Given the description of an element on the screen output the (x, y) to click on. 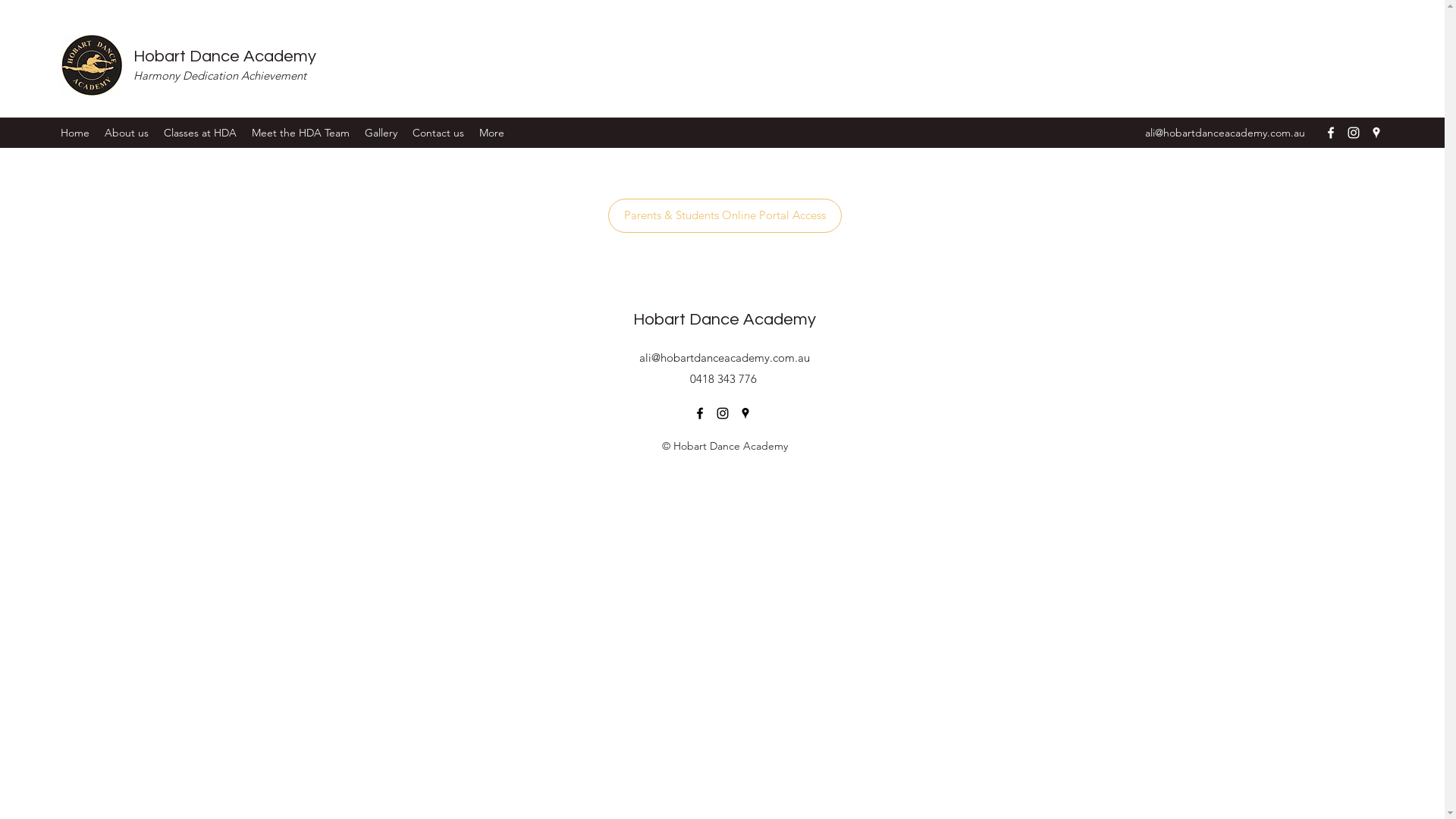
Home Element type: text (75, 132)
About us Element type: text (126, 132)
Parents & Students Online Portal Access Element type: text (724, 215)
ali@hobartdanceacademy.com.au Element type: text (1225, 132)
ali@hobartdanceacademy.com.au Element type: text (724, 357)
Gallery Element type: text (380, 132)
Contact us Element type: text (437, 132)
Classes at HDA Element type: text (200, 132)
Meet the HDA Team Element type: text (300, 132)
